Given the description of an element on the screen output the (x, y) to click on. 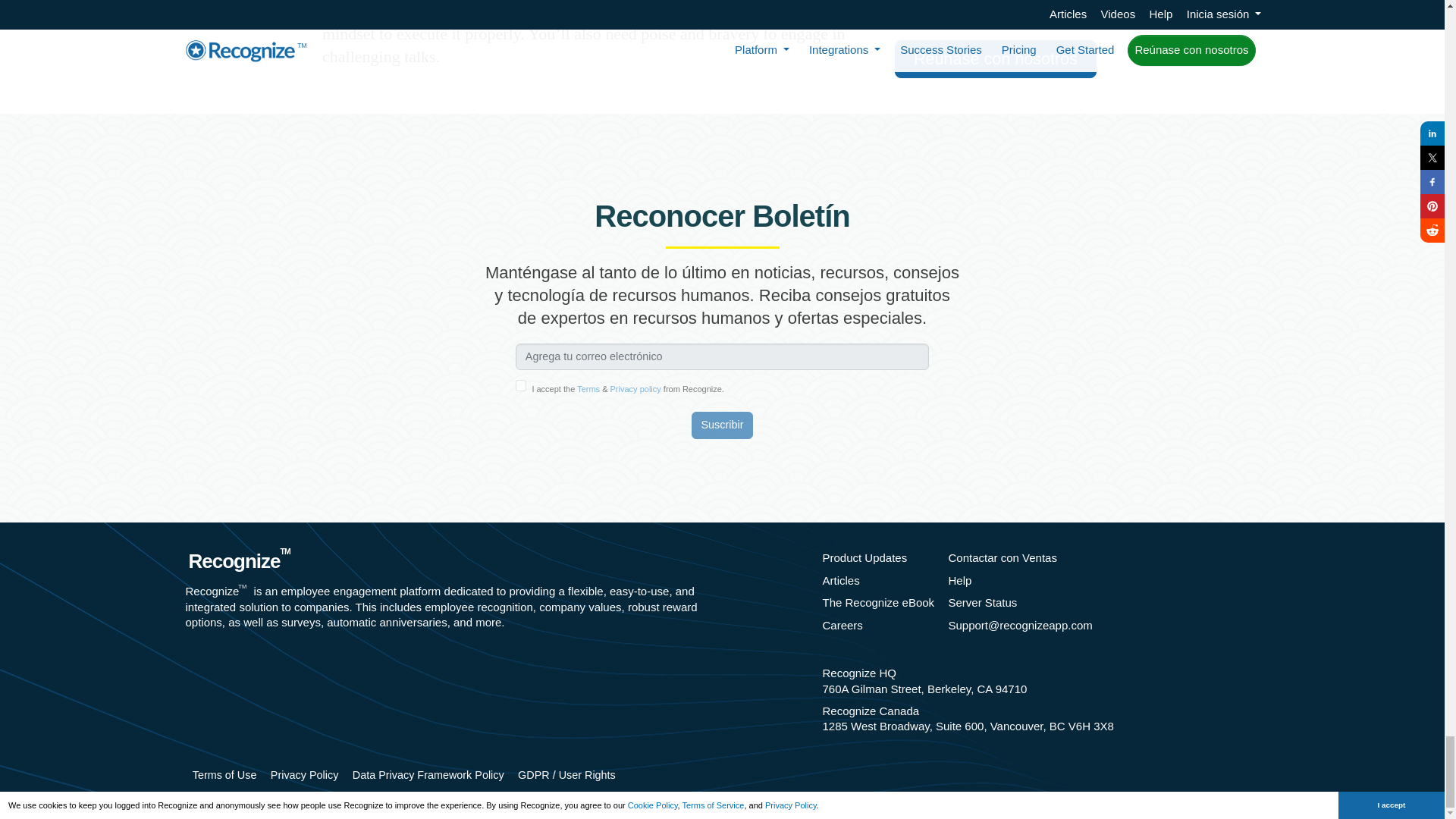
Suscribir (722, 424)
